Given the description of an element on the screen output the (x, y) to click on. 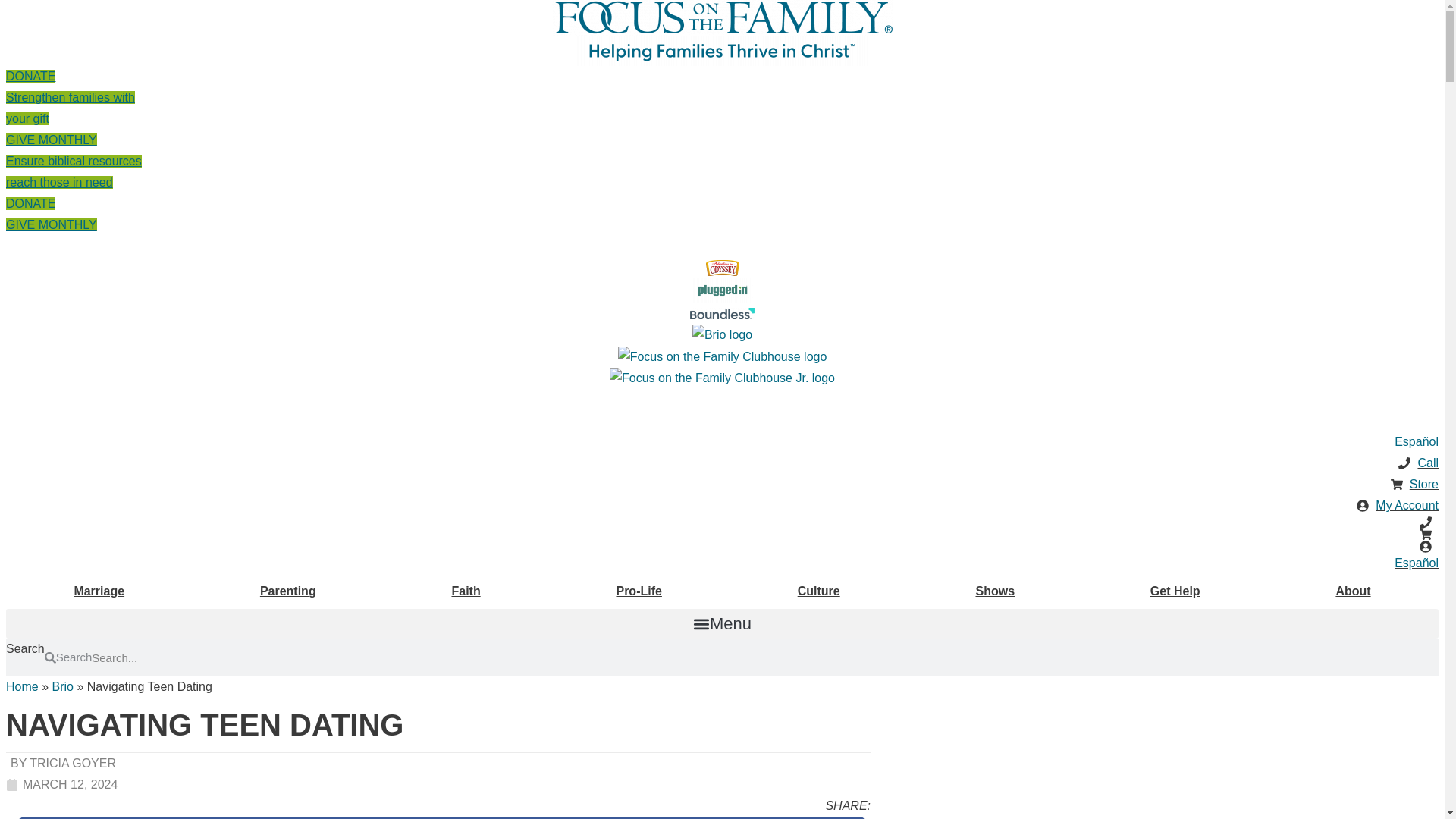
DONATE (30, 203)
Plugged In (721, 290)
Parenting (70, 97)
Pro-Life (288, 591)
Faith (638, 591)
GIVE MONTHLY (73, 161)
Boundless (466, 591)
Helping Families Thrive in Christ (51, 224)
Brio (722, 313)
Marriage (721, 51)
Adventures in Odyssey (722, 334)
Focus on the Family (98, 591)
Focus on the Family Clubhouse (721, 268)
